Given the description of an element on the screen output the (x, y) to click on. 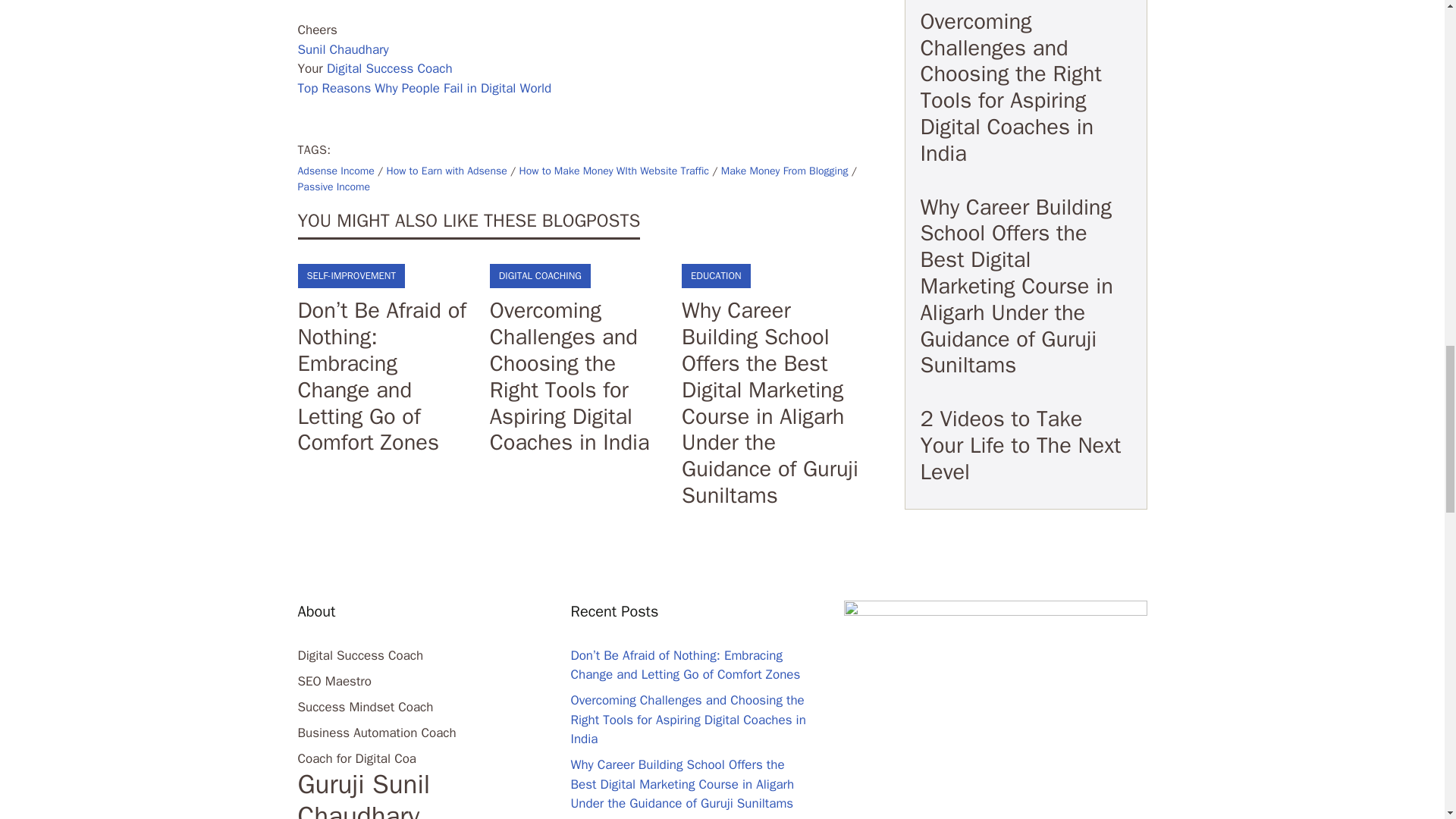
Top Reasons Why People Fail in Digital World (424, 88)
Adsense Income (335, 170)
Passive Income (333, 186)
SELF-IMPROVEMENT (349, 275)
How to Make Money WIth Website Traffic (613, 170)
EDUCATION (715, 275)
DIGITAL COACHING (539, 275)
How to Earn with Adsense (445, 170)
Make Money From Blogging (784, 170)
Digital Success Coach (389, 68)
Sunil Chaudhary (342, 49)
